Given the description of an element on the screen output the (x, y) to click on. 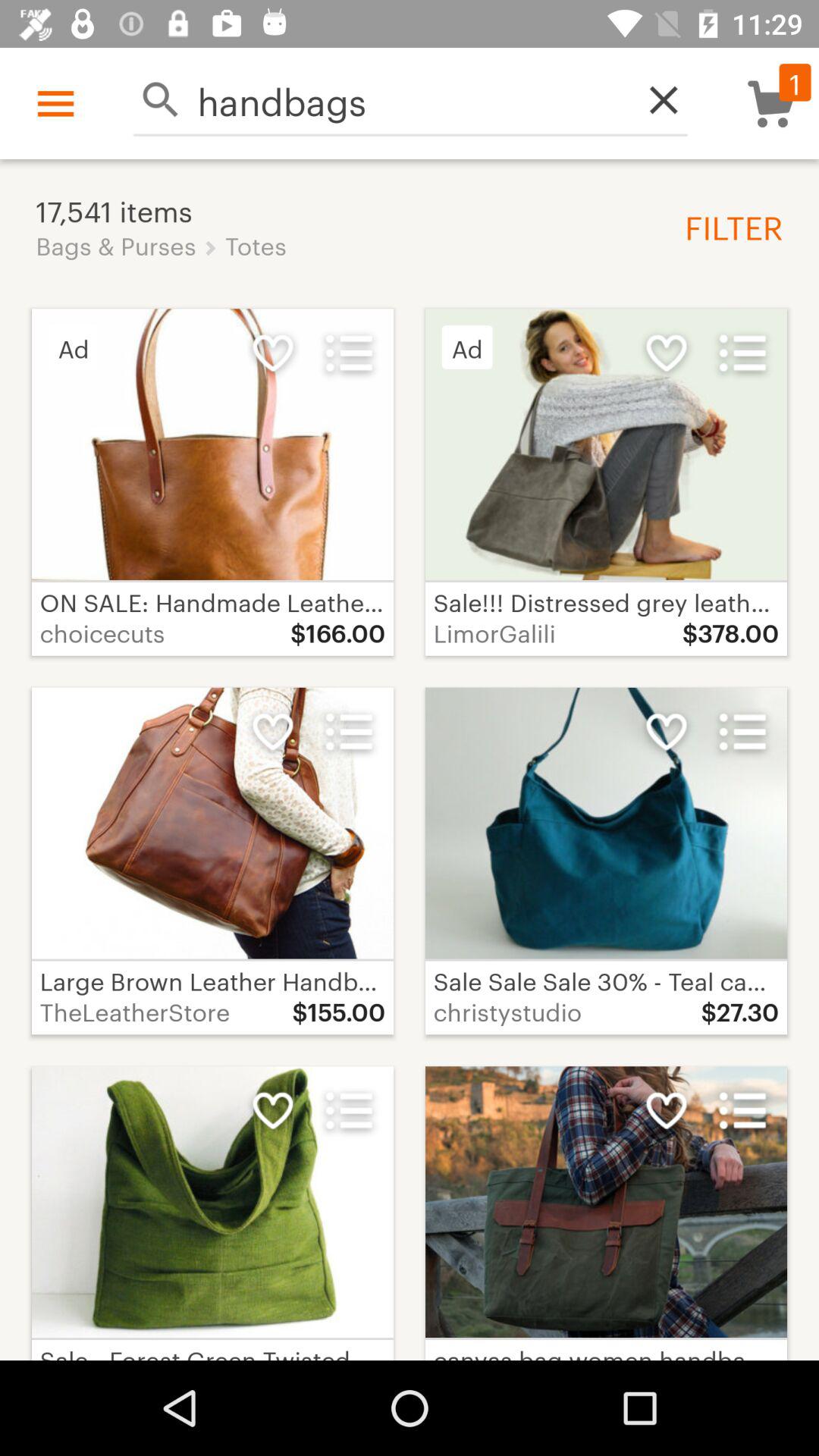
choose the icon above 17,541 items icon (55, 103)
